Given the description of an element on the screen output the (x, y) to click on. 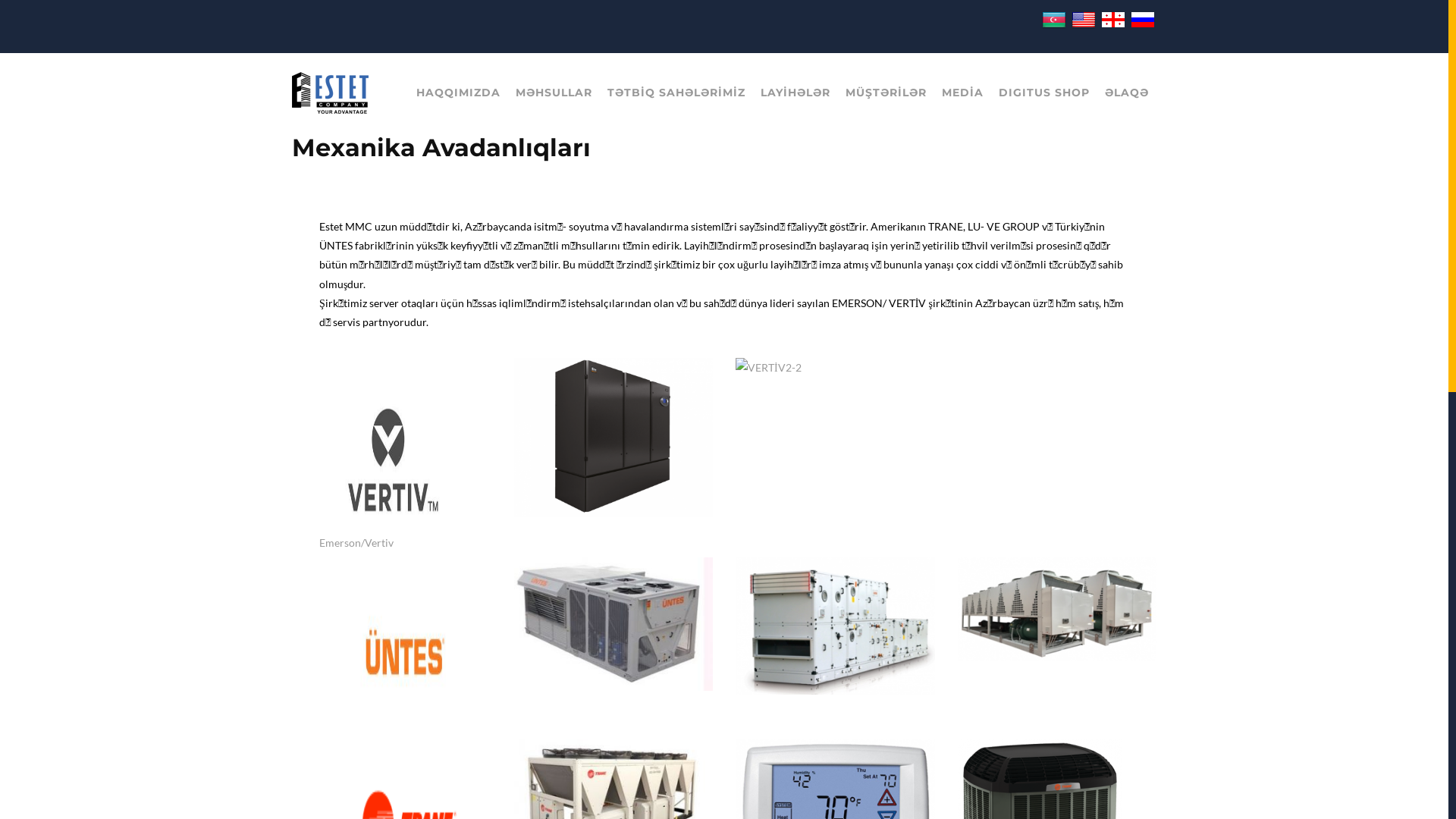
MEDIA Element type: text (962, 92)
HAQQIMIZDA Element type: text (458, 92)
DIGITUS SHOP Element type: text (1043, 92)
English Element type: hover (1083, 19)
